Given the description of an element on the screen output the (x, y) to click on. 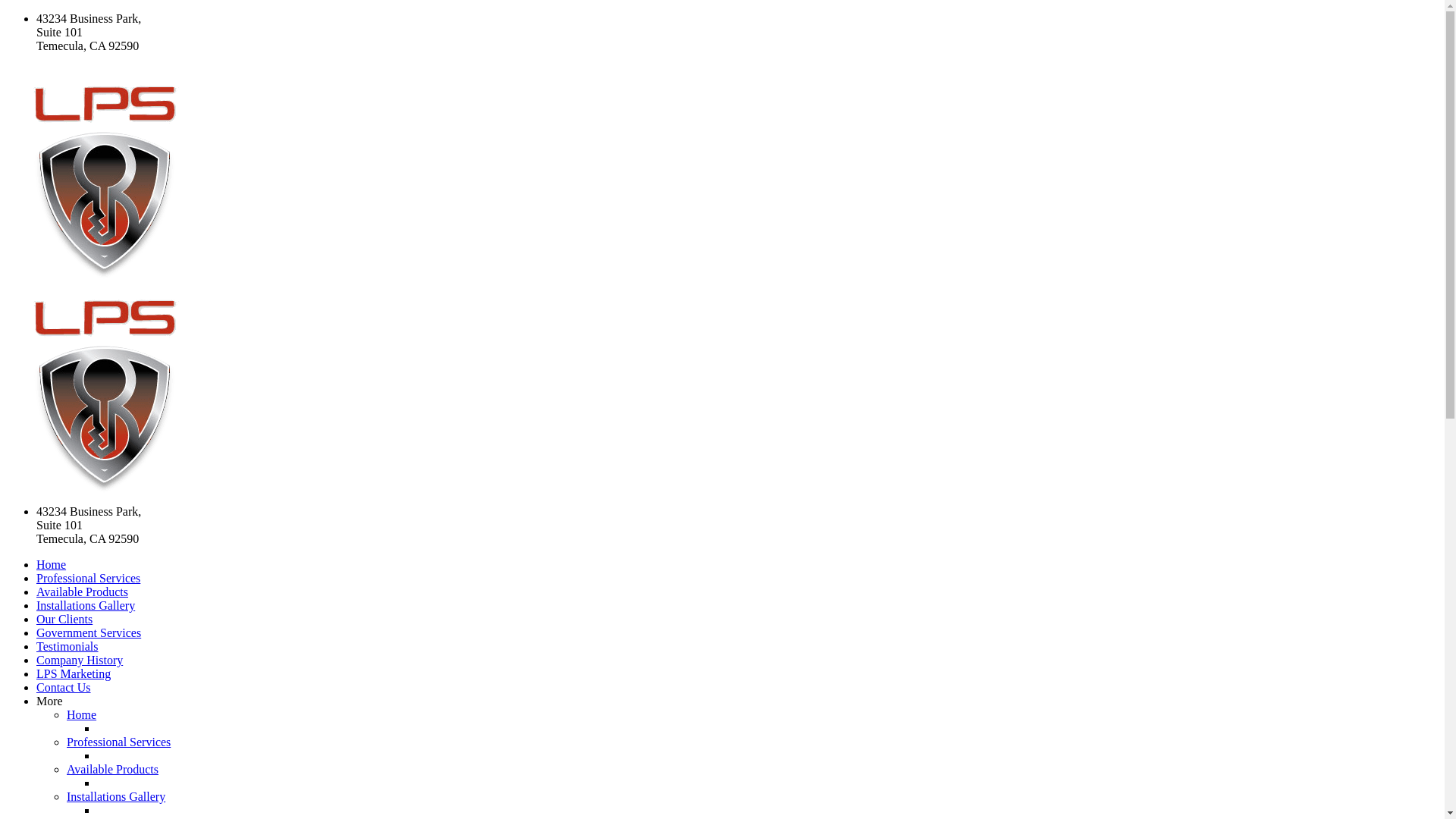
Contact Us Element type: text (63, 686)
Testimonials Element type: text (67, 646)
Installations Gallery Element type: text (115, 796)
Company History Element type: text (79, 659)
LPS Marketing Element type: text (73, 673)
Installations Gallery Element type: text (85, 605)
Our Clients Element type: text (64, 618)
Available Products Element type: text (112, 768)
Available Products Element type: text (82, 591)
Professional Services Element type: text (88, 577)
Home Element type: text (50, 564)
Government Services Element type: text (88, 632)
Home Element type: text (81, 714)
Professional Services Element type: text (118, 741)
More Element type: text (737, 701)
